Given the description of an element on the screen output the (x, y) to click on. 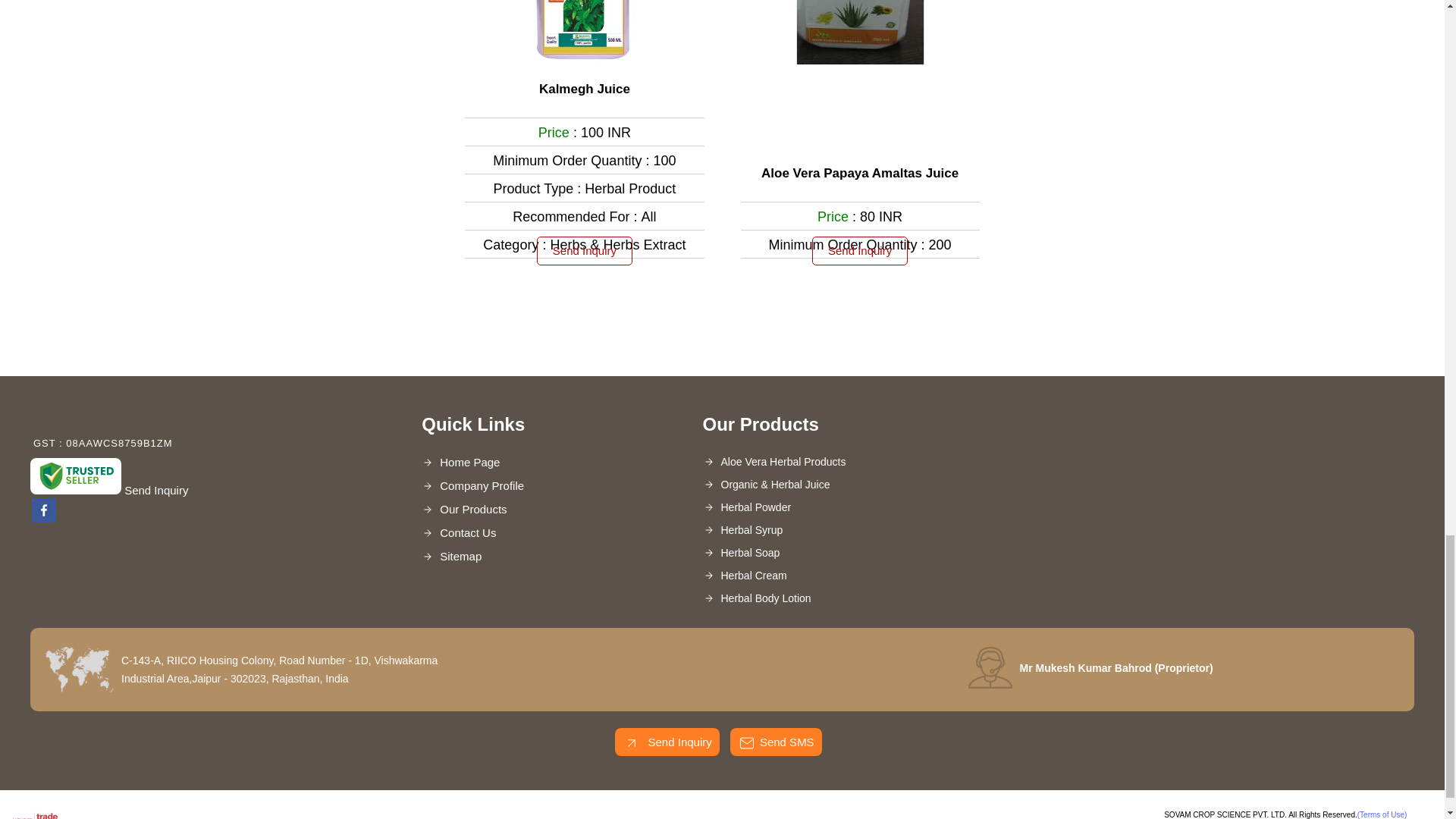
Send SMS (746, 742)
Facebook (44, 517)
Send Inquiry (631, 742)
